Given the description of an element on the screen output the (x, y) to click on. 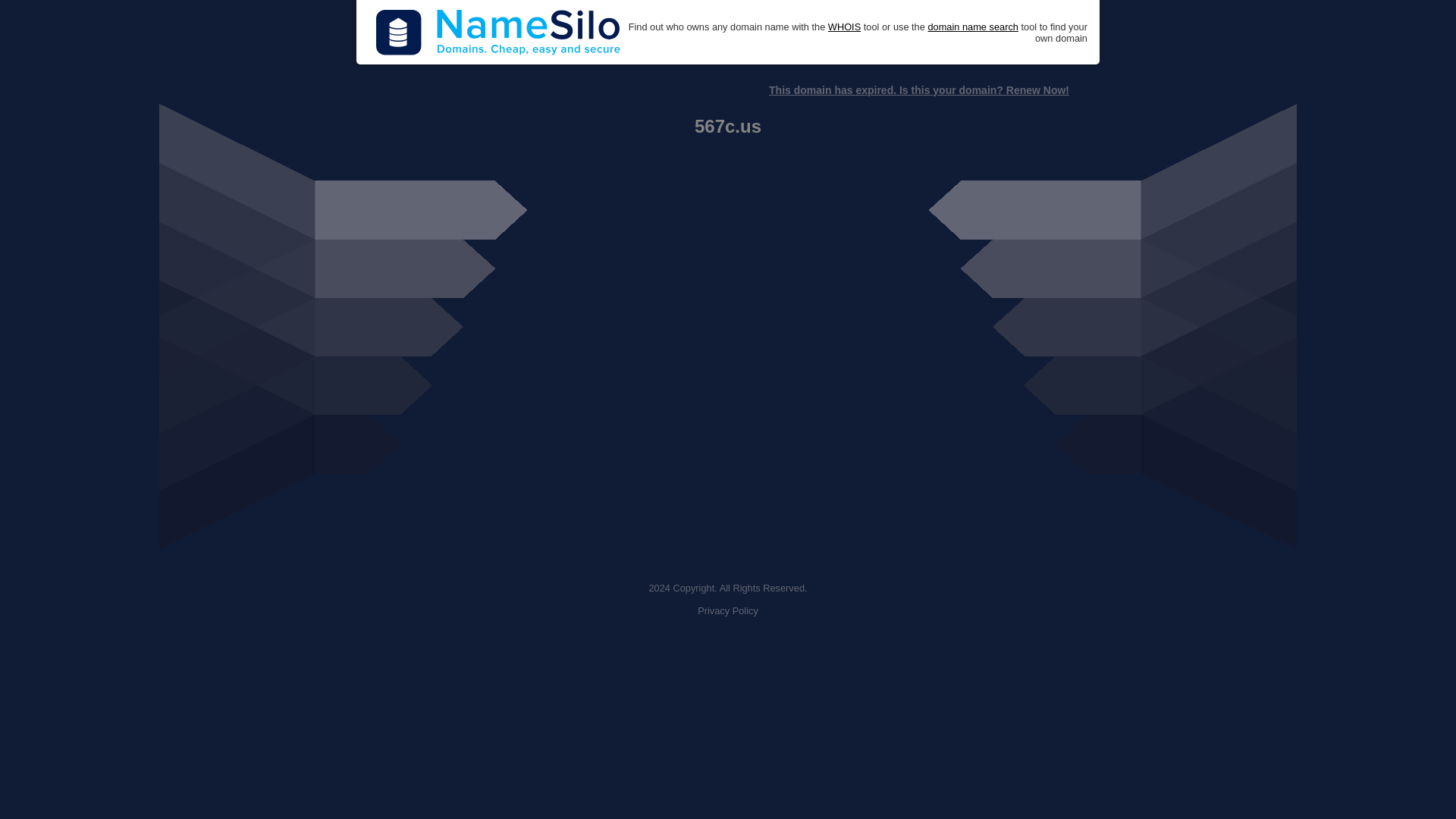
This domain has expired. Is this your domain? Renew Now! (918, 90)
Privacy Policy (727, 610)
WHOIS (844, 26)
domain name search (972, 26)
